Given the description of an element on the screen output the (x, y) to click on. 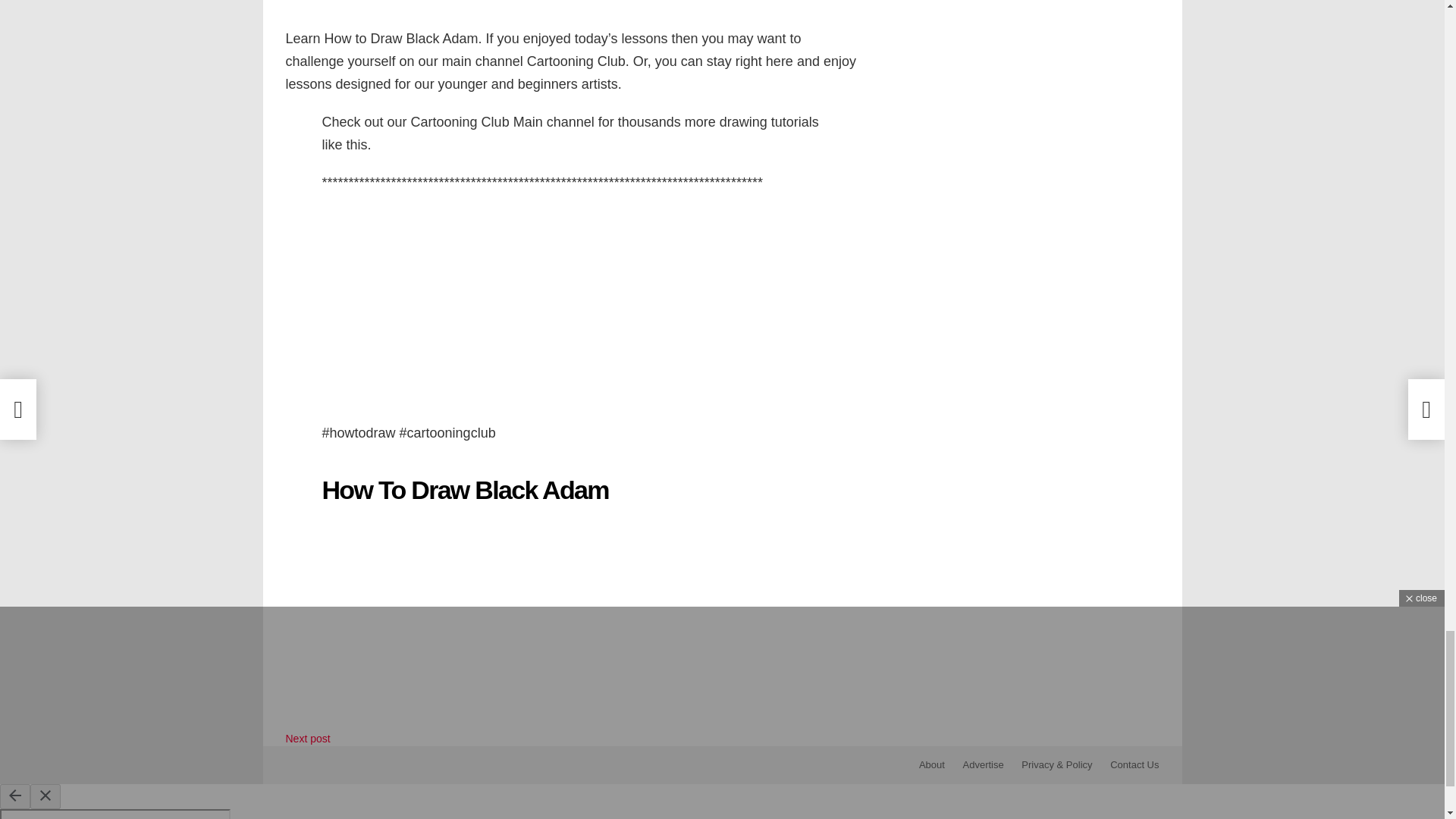
About (931, 765)
Contact Us (1134, 765)
Advertise (983, 765)
Next post (307, 738)
